Given the description of an element on the screen output the (x, y) to click on. 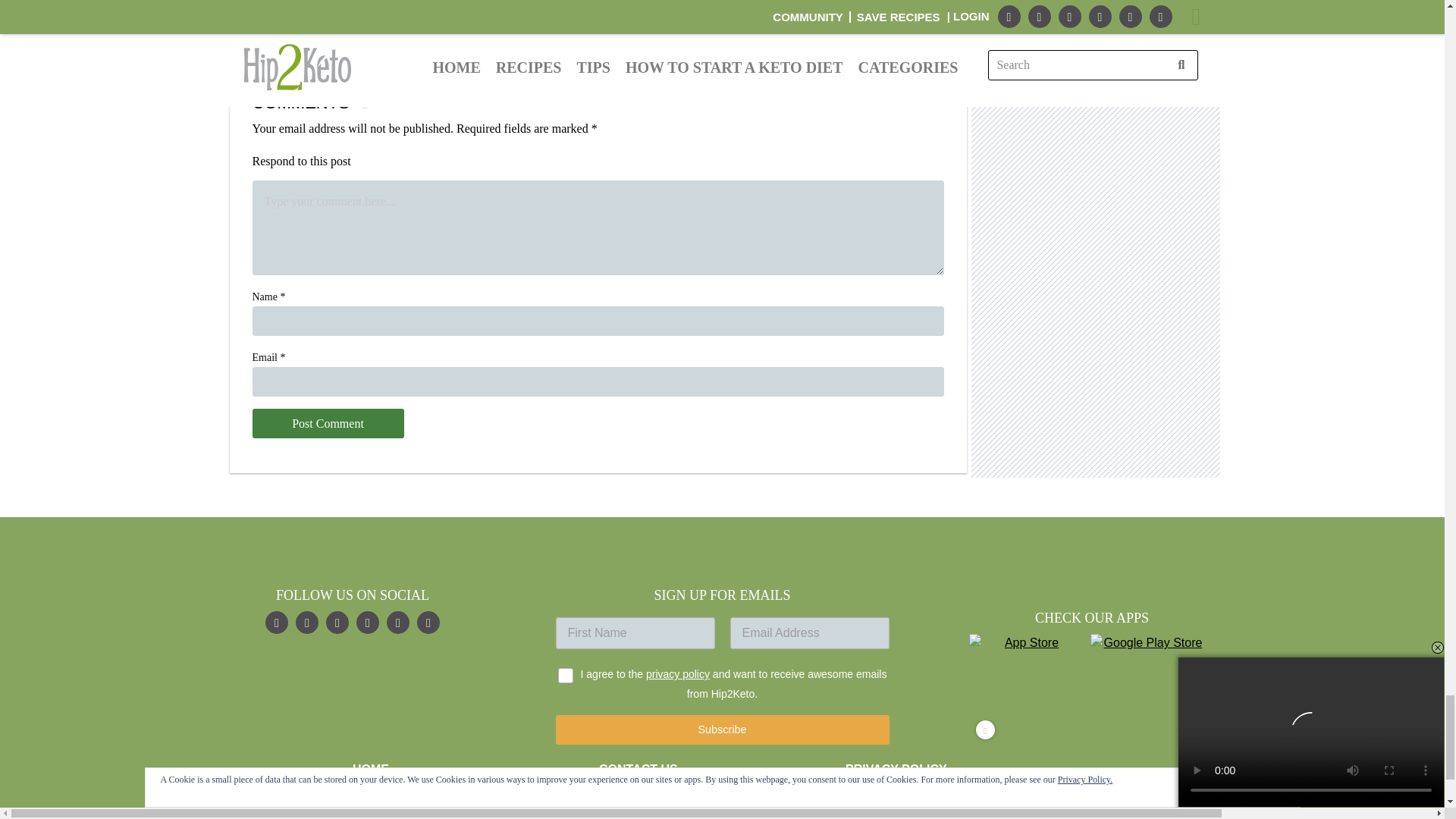
Post Comment (327, 423)
Subscribe (721, 729)
